Given the description of an element on the screen output the (x, y) to click on. 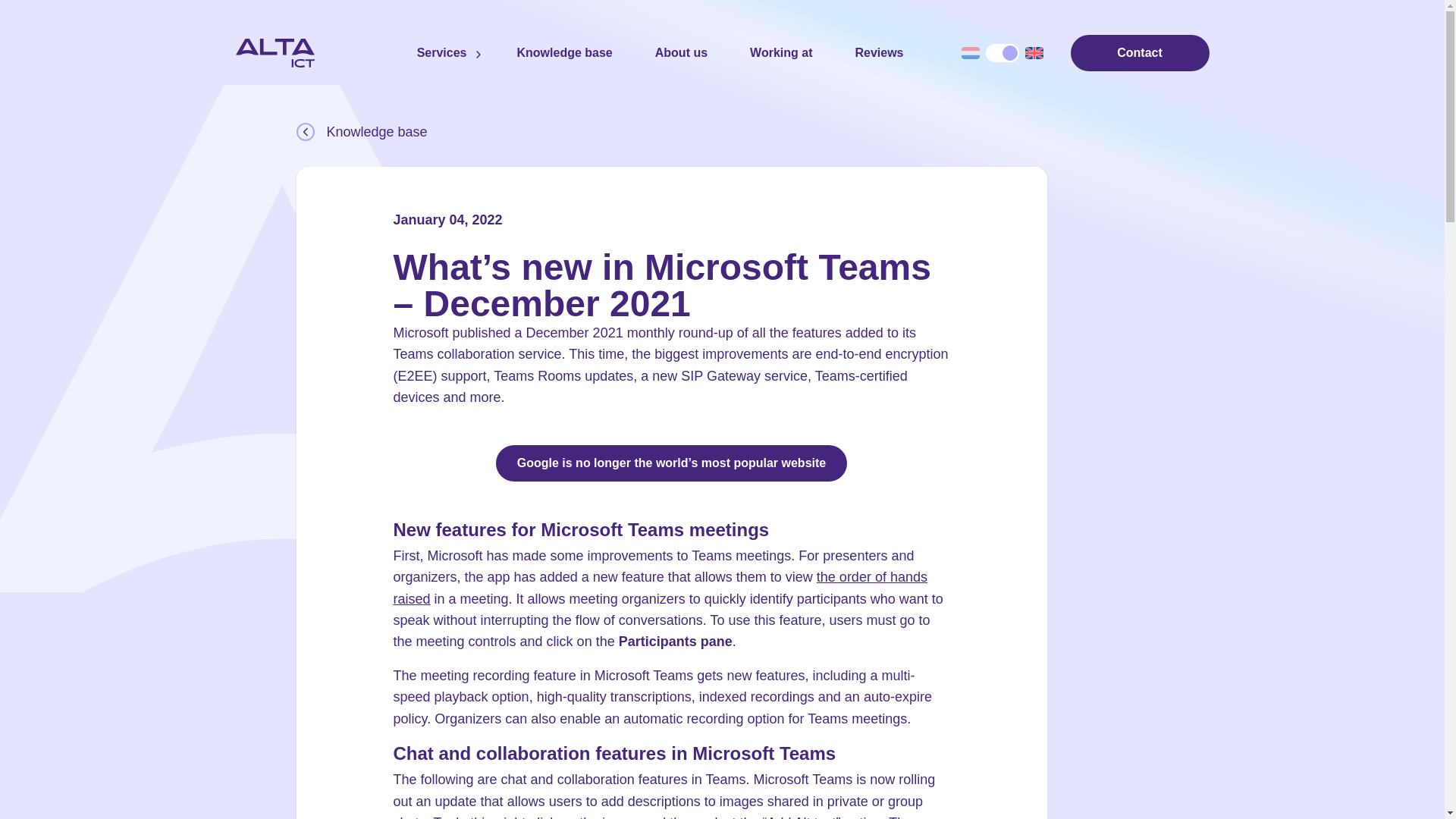
the order of hands raised (659, 587)
Services (441, 53)
Working at (781, 53)
Knowledge base (564, 53)
Contact (1139, 53)
Knowledge base (721, 131)
Reviews (878, 53)
About us (681, 53)
